Given the description of an element on the screen output the (x, y) to click on. 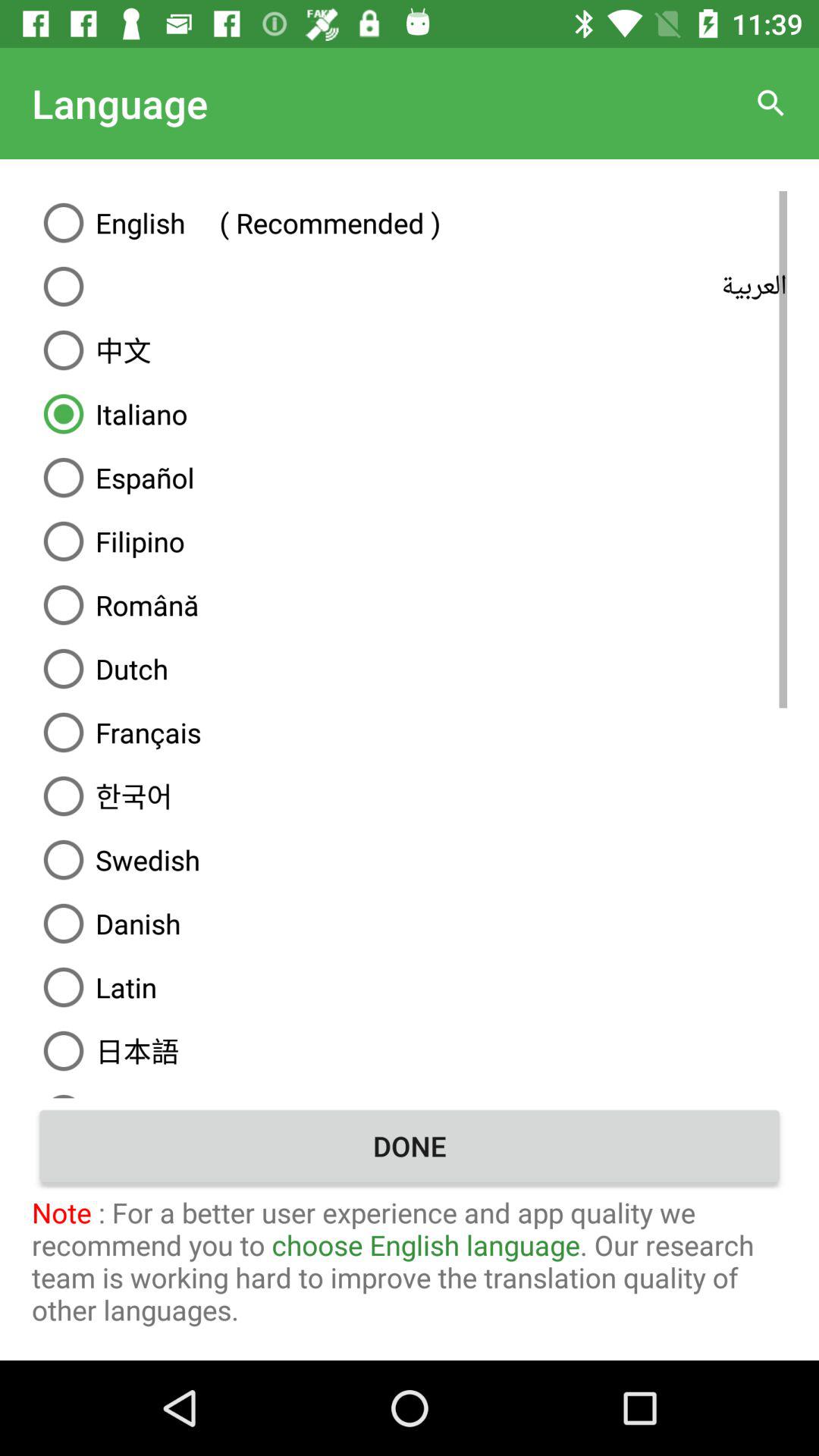
launch the icon to the right of language (771, 103)
